Given the description of an element on the screen output the (x, y) to click on. 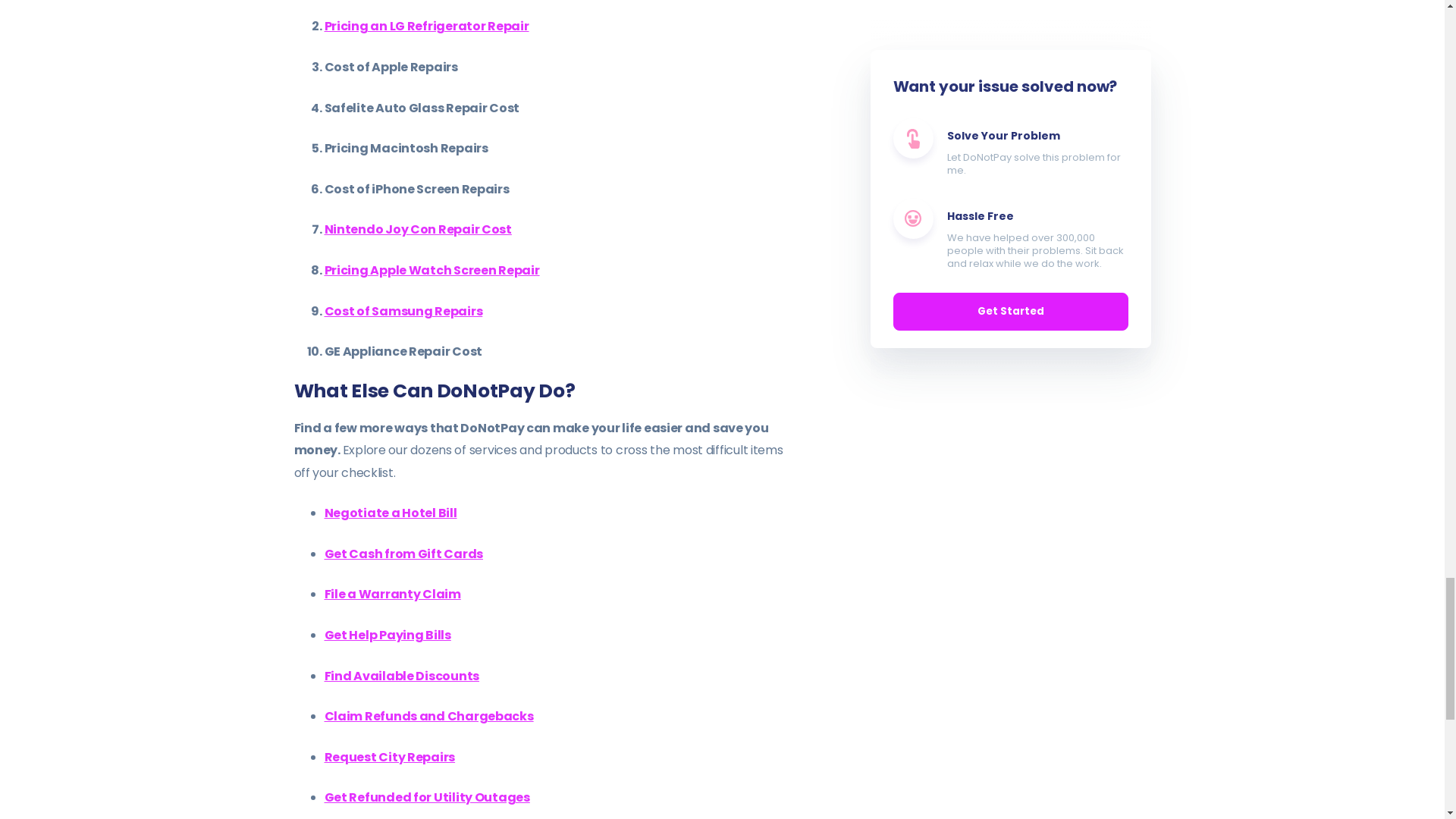
Pricing Apple Watch Screen Repair (432, 270)
Nintendo Joy Con Repair Cost (418, 229)
Pricing an LG Refrigerator Repair (426, 26)
File a Warranty Claim (392, 593)
Negotiate a Hotel Bill (390, 512)
Cost of Samsung Repairs (403, 311)
Get Cash from Gift Cards (403, 553)
